Given the description of an element on the screen output the (x, y) to click on. 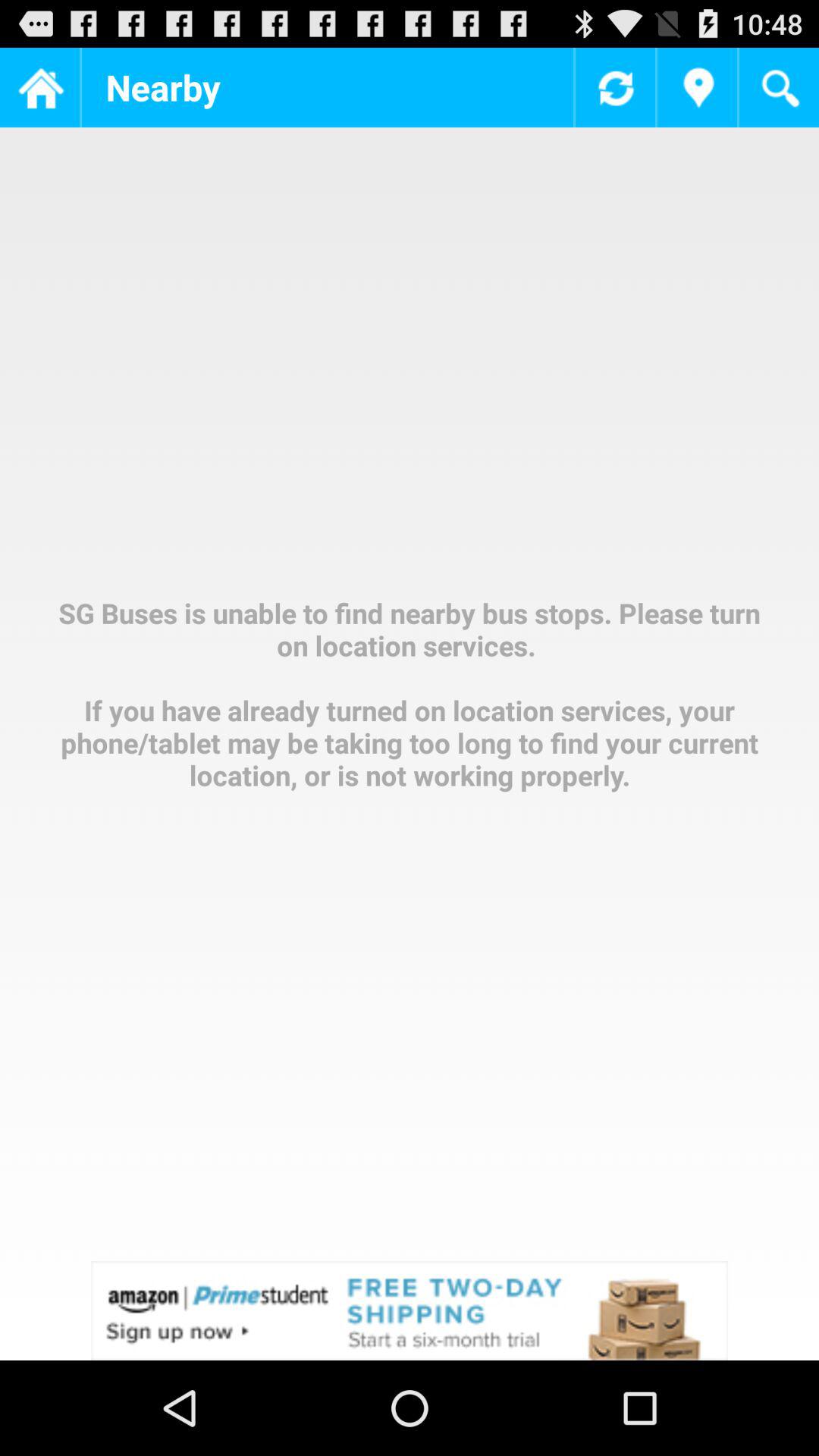
open this advertisement (409, 1310)
